Given the description of an element on the screen output the (x, y) to click on. 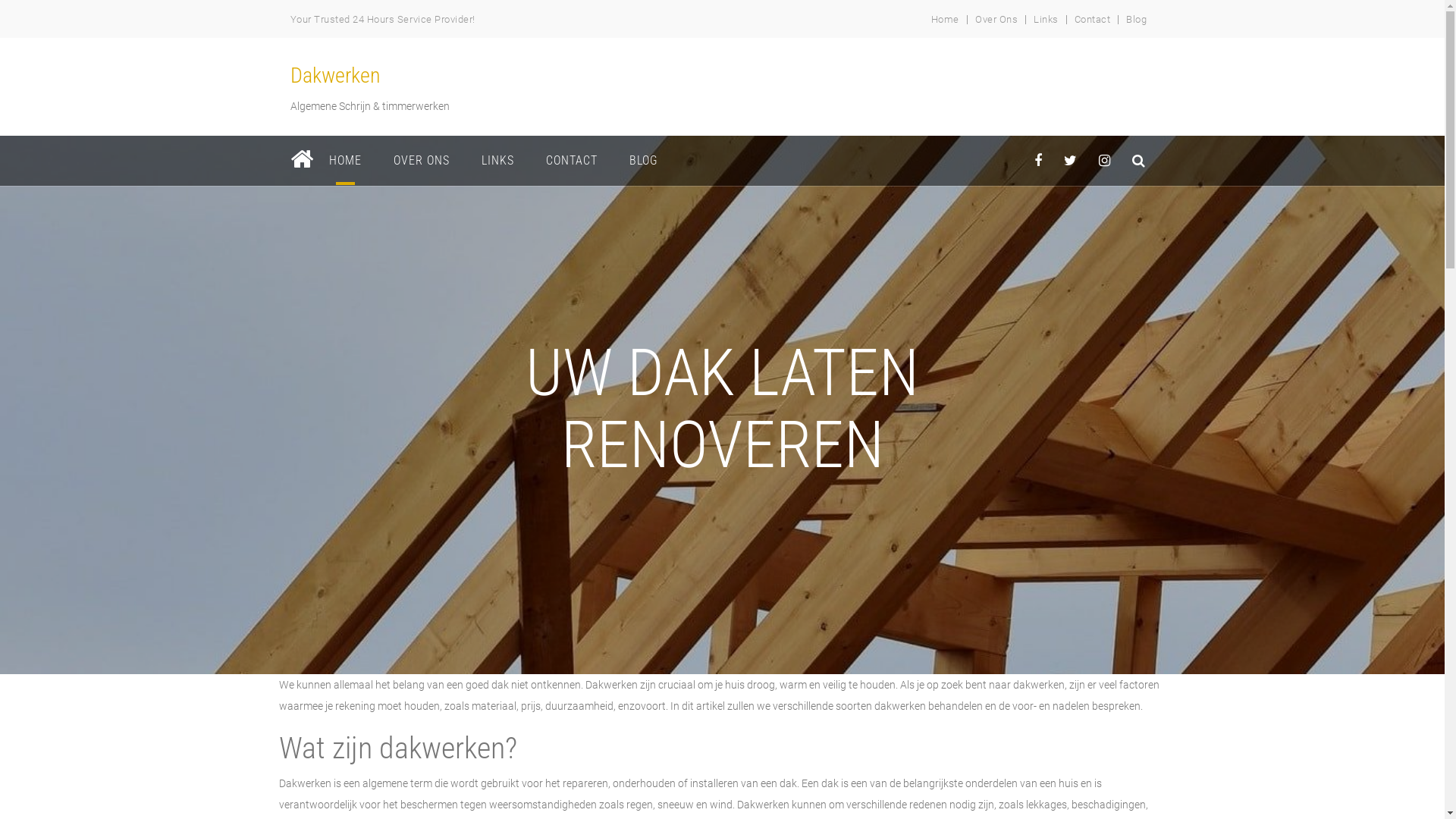
Blog Element type: text (1136, 19)
Contact Element type: text (1092, 19)
CONTACT Element type: text (570, 160)
Dakwerken Element type: text (334, 74)
Links Element type: text (1045, 19)
LINKS Element type: text (497, 160)
BLOG Element type: text (642, 160)
Over Ons Element type: text (996, 19)
Home Element type: text (945, 19)
behance Element type: hover (1138, 160)
HOME Element type: text (344, 160)
OVER ONS Element type: text (421, 160)
